Given the description of an element on the screen output the (x, y) to click on. 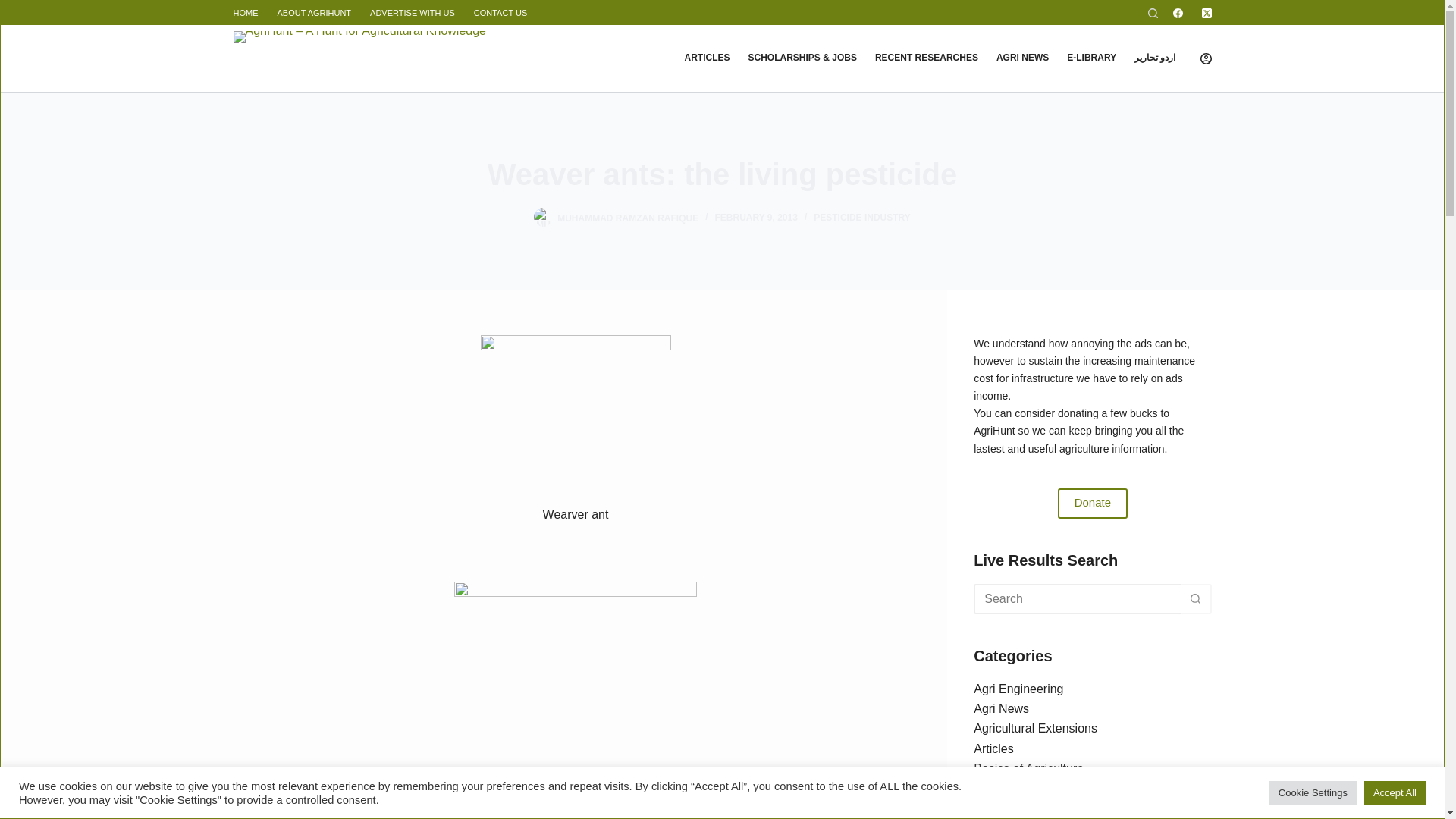
Skip to content (15, 7)
RECENT RESEARCHES (926, 58)
ARTICLES (707, 58)
MUHAMMAD RAMZAN RAFIQUE (627, 217)
ADVERTISE WITH US (412, 12)
E-LIBRARY (1091, 58)
HOME (249, 12)
Weaver ants: the living pesticide (722, 174)
CONTACT US (500, 12)
Search for... (1077, 598)
AGRI NEWS (1022, 58)
PESTICIDE INDUSTRY (862, 217)
Posts by Muhammad Ramzan Rafique (627, 217)
ABOUT AGRIHUNT (314, 12)
